Given the description of an element on the screen output the (x, y) to click on. 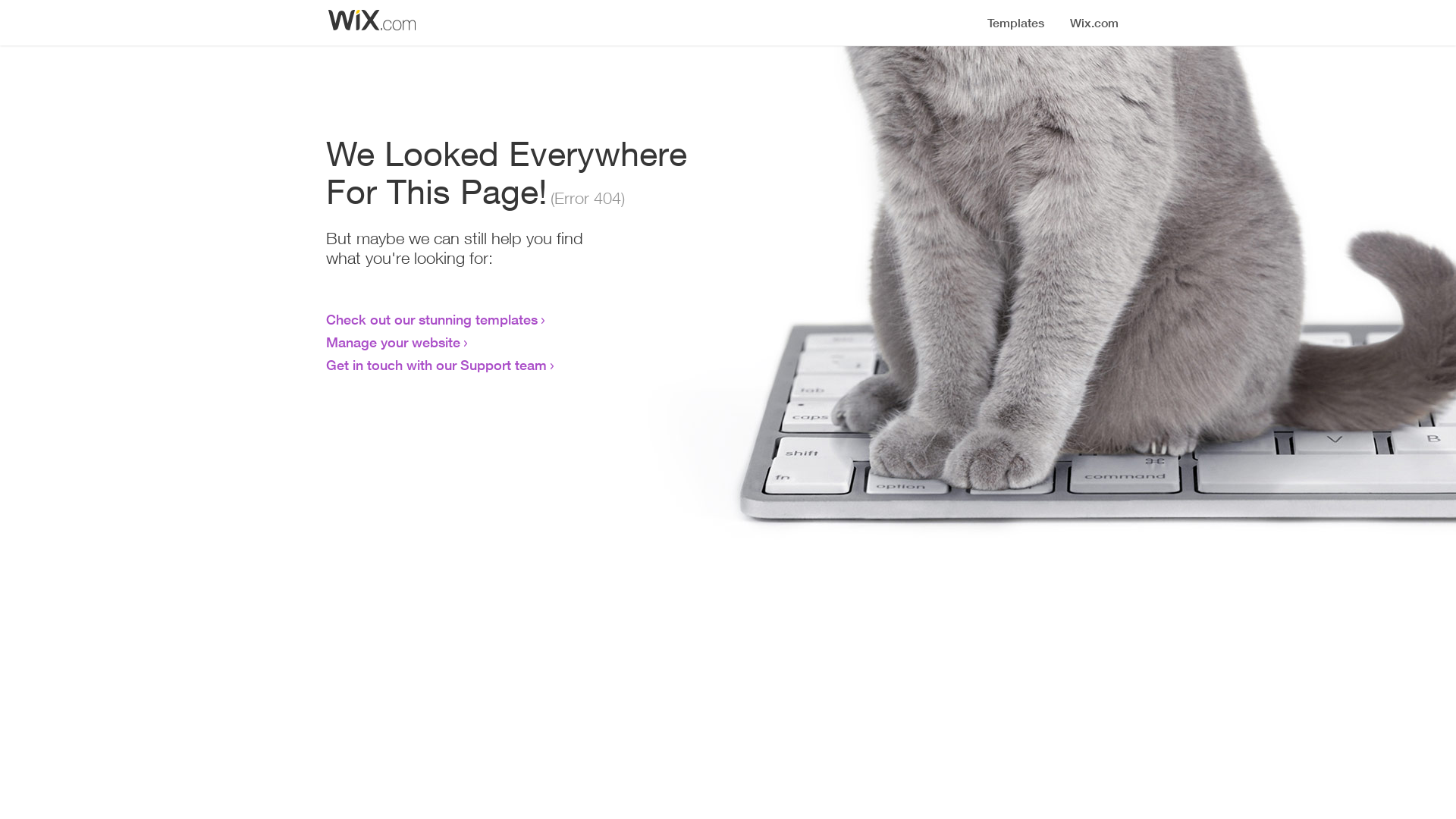
Manage your website Element type: text (393, 341)
Get in touch with our Support team Element type: text (436, 364)
Check out our stunning templates Element type: text (431, 318)
